Given the description of an element on the screen output the (x, y) to click on. 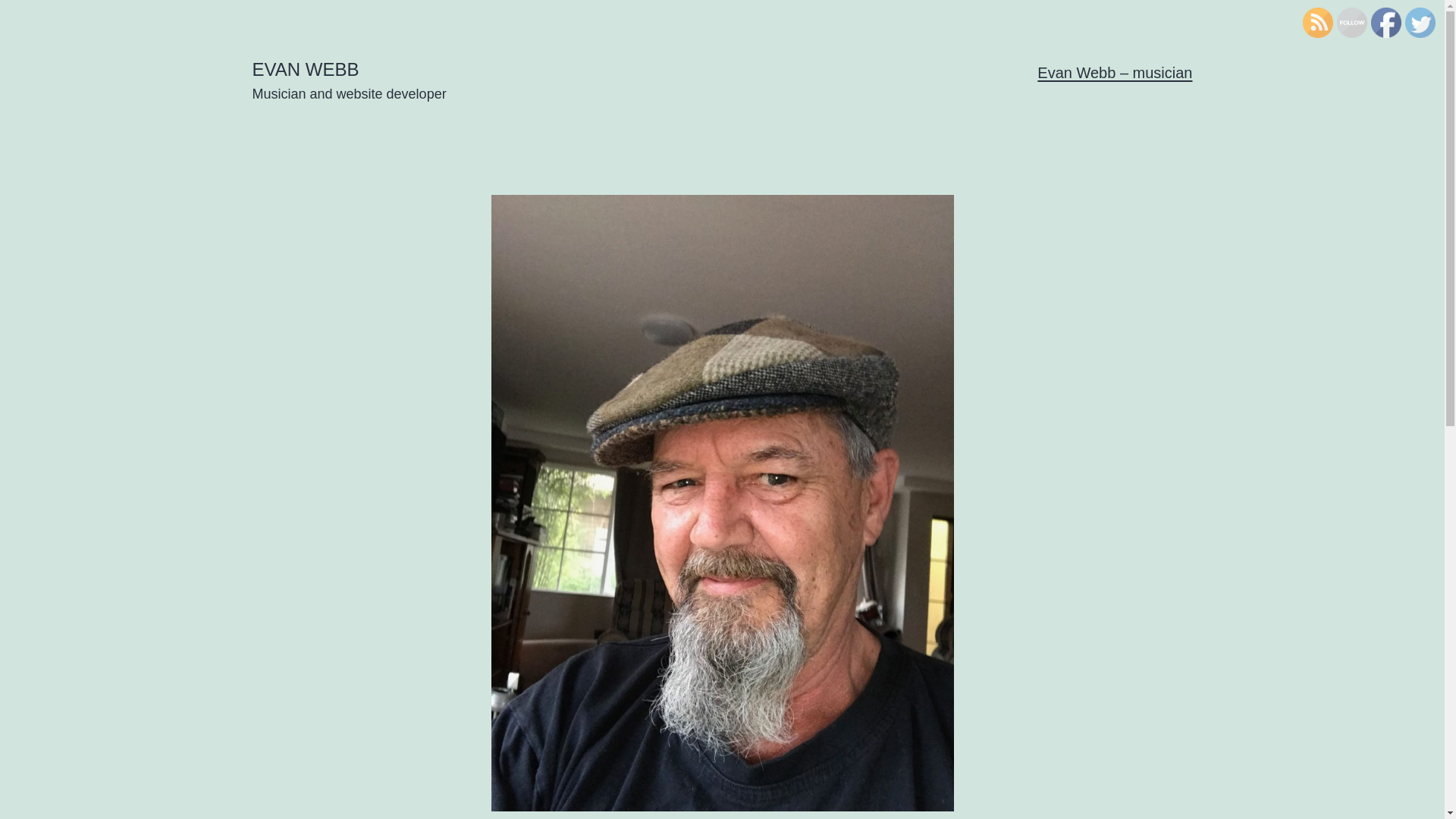
Follow by Email Element type: hover (1351, 22)
RSS Element type: hover (1317, 22)
Twitter Element type: hover (1419, 22)
Facebook Element type: hover (1386, 22)
